Given the description of an element on the screen output the (x, y) to click on. 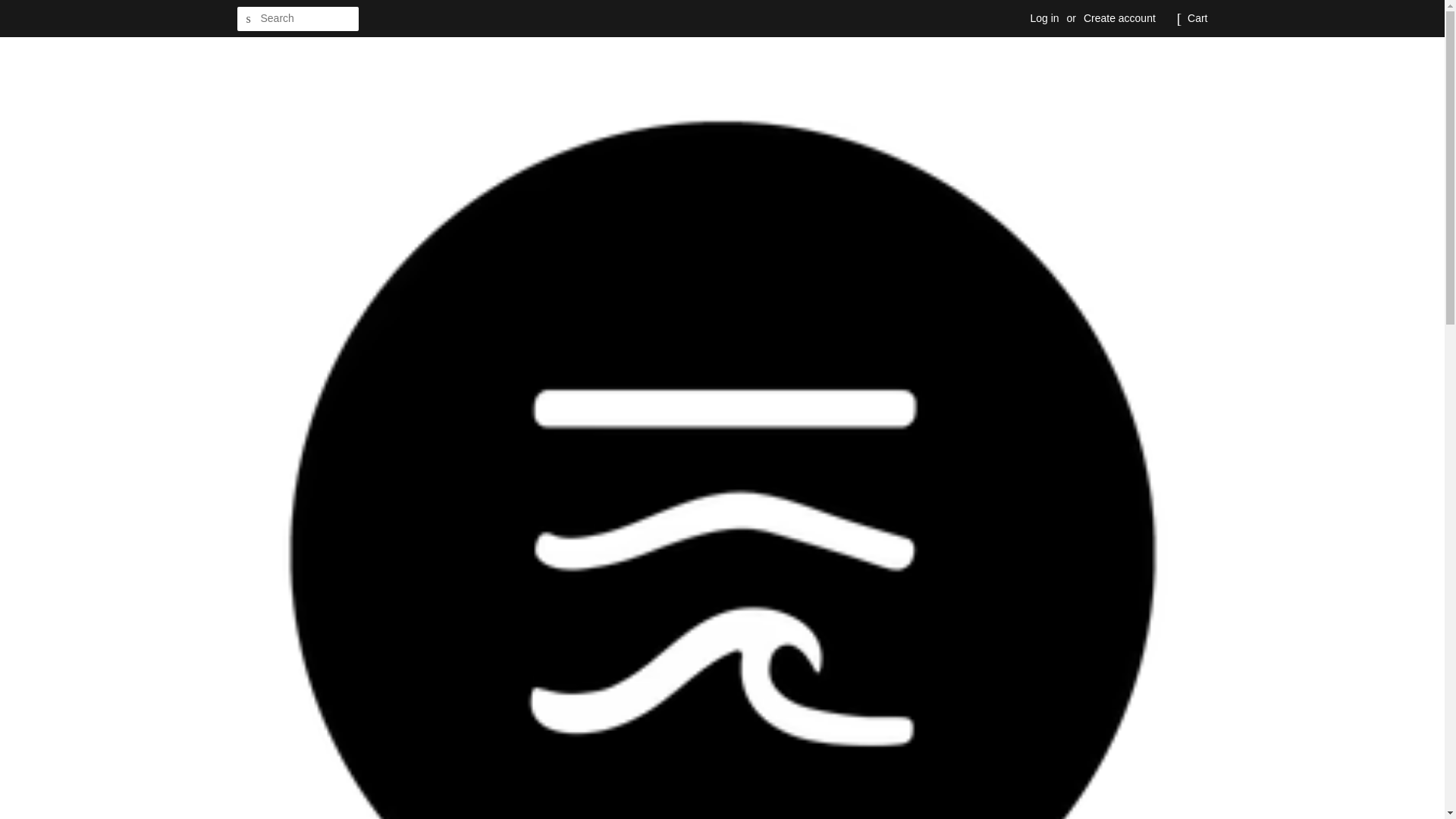
Cart (1197, 18)
Create account (1119, 18)
Log in (1043, 18)
SEARCH (247, 18)
